Given the description of an element on the screen output the (x, y) to click on. 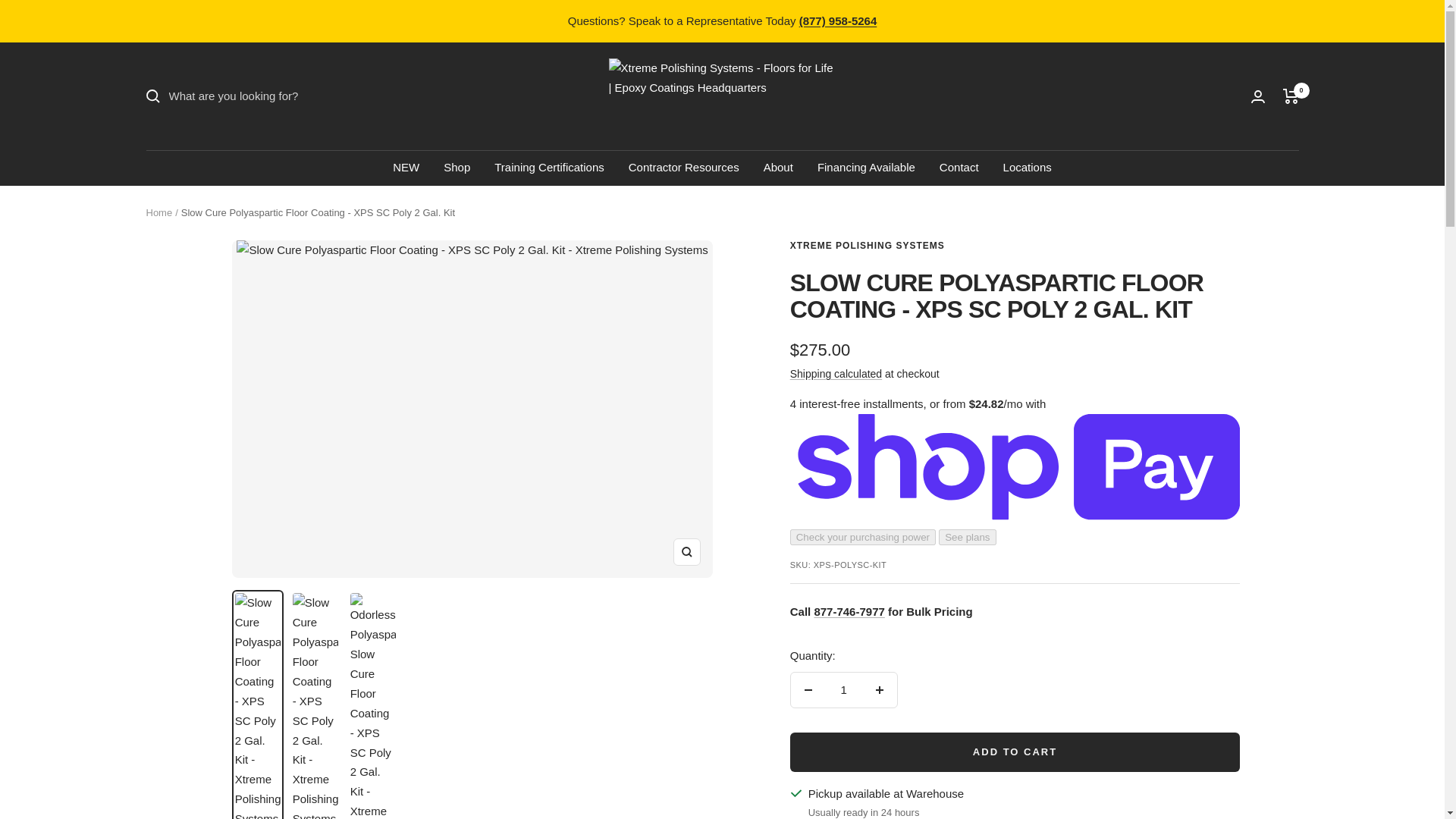
Home (158, 212)
1 (843, 689)
Shop (457, 167)
877-746-7977 (848, 611)
XTREME POLISHING SYSTEMS (867, 245)
Contact (958, 167)
Contractor Resources (683, 167)
Financing Available (865, 167)
0 (1290, 96)
About (777, 167)
